Given the description of an element on the screen output the (x, y) to click on. 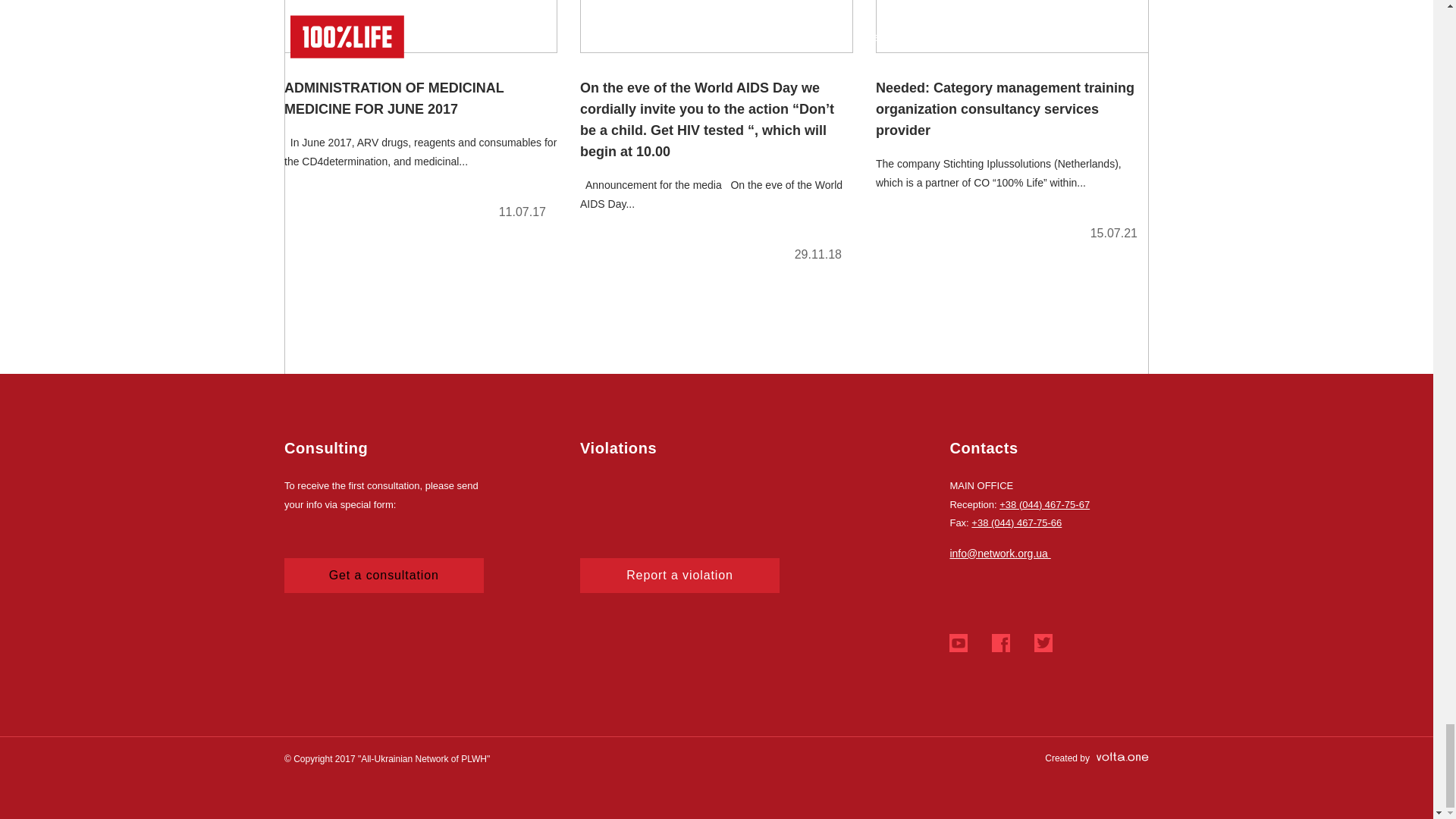
Report a violation (678, 574)
Get a consultation (383, 574)
Report a violation (678, 574)
ADMINISTRATION OF MEDICINAL MEDICINE FOR JUNE 2017 (420, 116)
Created by (1096, 757)
Get a consultation (383, 574)
